Given the description of an element on the screen output the (x, y) to click on. 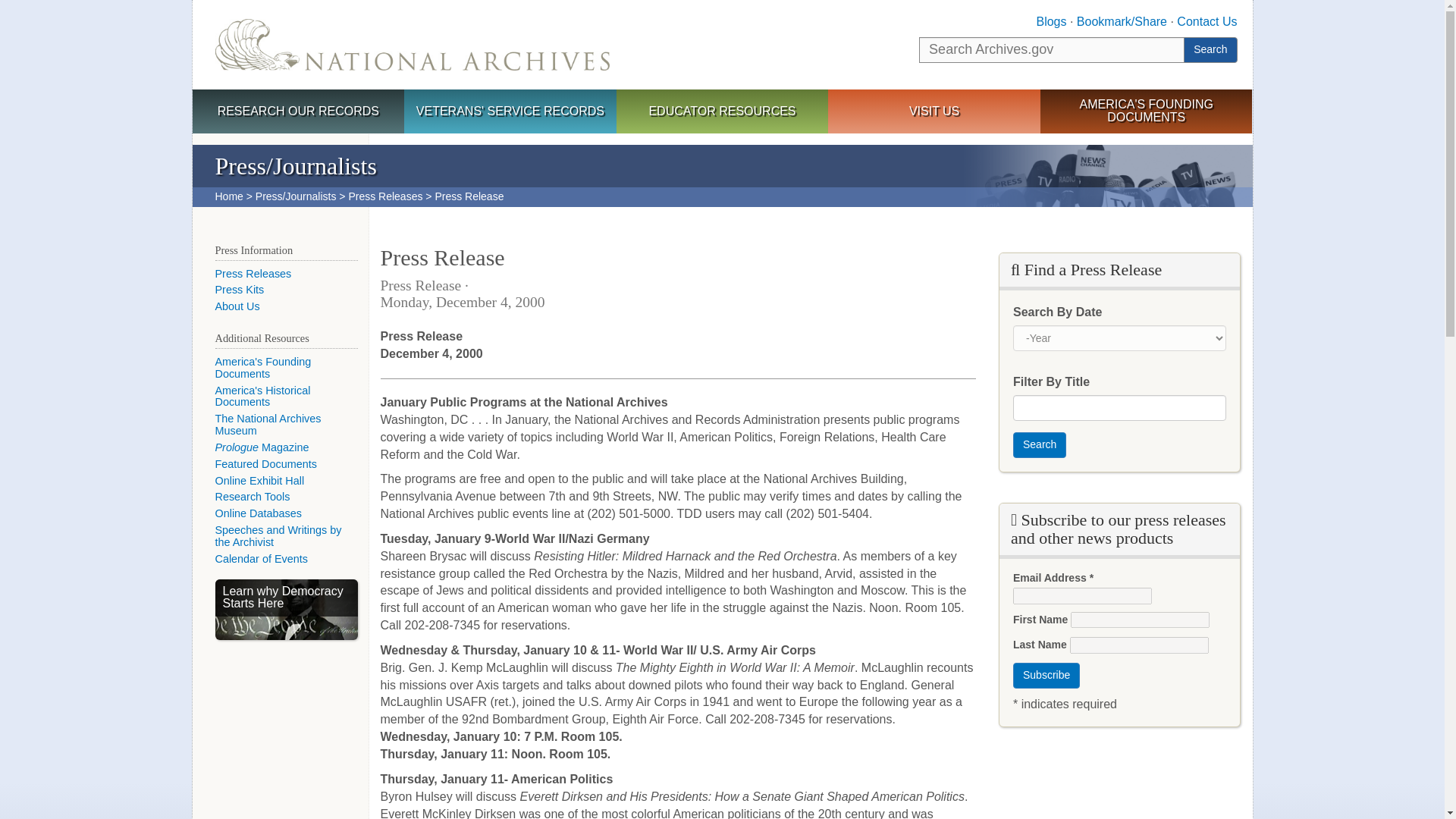
Speeches and Writings by the Archivist (278, 535)
Learn why Democracy Starts Here (286, 609)
Research Tools (252, 496)
Search (1209, 49)
Subscribe (1046, 675)
AMERICA'S FOUNDING DOCUMENTS (1146, 111)
Contact Us (1206, 21)
VETERANS' SERVICE RECORDS (509, 111)
America's Historical Documents (263, 396)
America's Founding Documents (263, 367)
About Us (237, 306)
RESEARCH OUR RECORDS (298, 111)
